Given the description of an element on the screen output the (x, y) to click on. 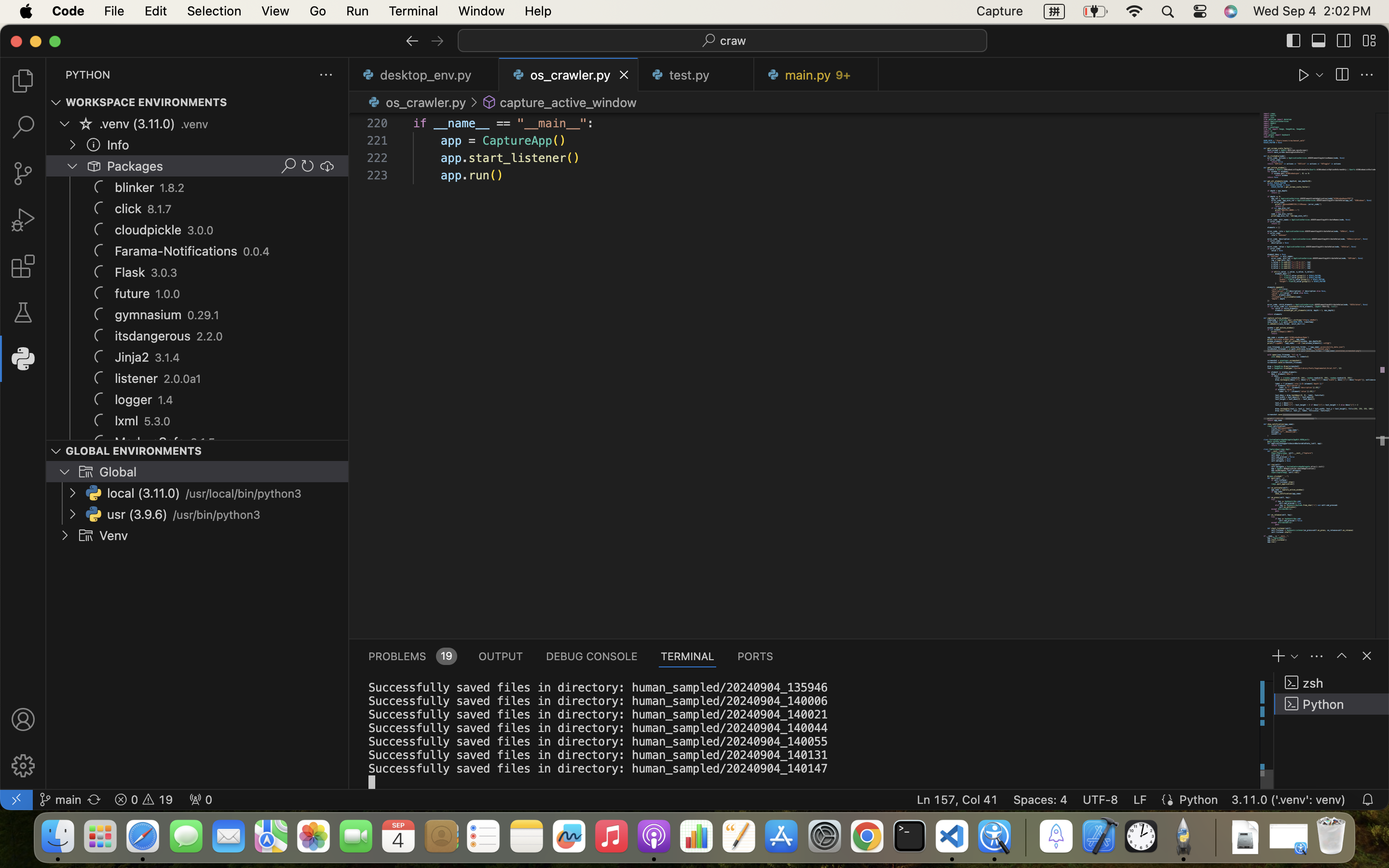
 Element type: AXStaticText (489, 101)
gymnasium Element type: AXStaticText (148, 314)
1.8.2 Element type: AXStaticText (172, 187)
 Element type: AXButton (1341, 74)
2.0.0a1 Element type: AXStaticText (182, 378)
